Given the description of an element on the screen output the (x, y) to click on. 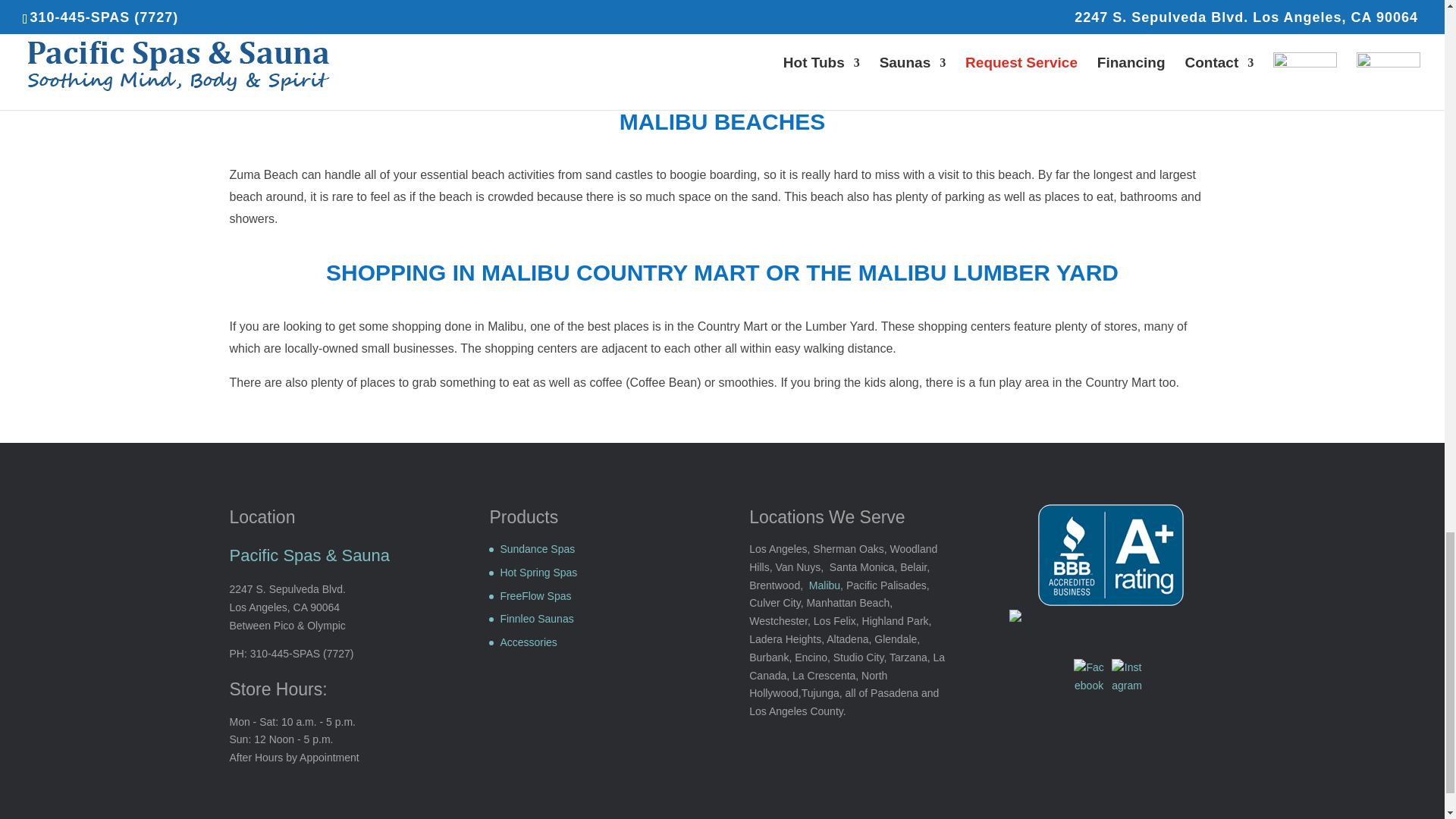
Finnleo Saunas (536, 618)
Accessories (527, 642)
Sundance Spas (537, 548)
Malibu (824, 585)
Hot Spring Spas (537, 572)
FreeFlow Spas (534, 595)
